Given the description of an element on the screen output the (x, y) to click on. 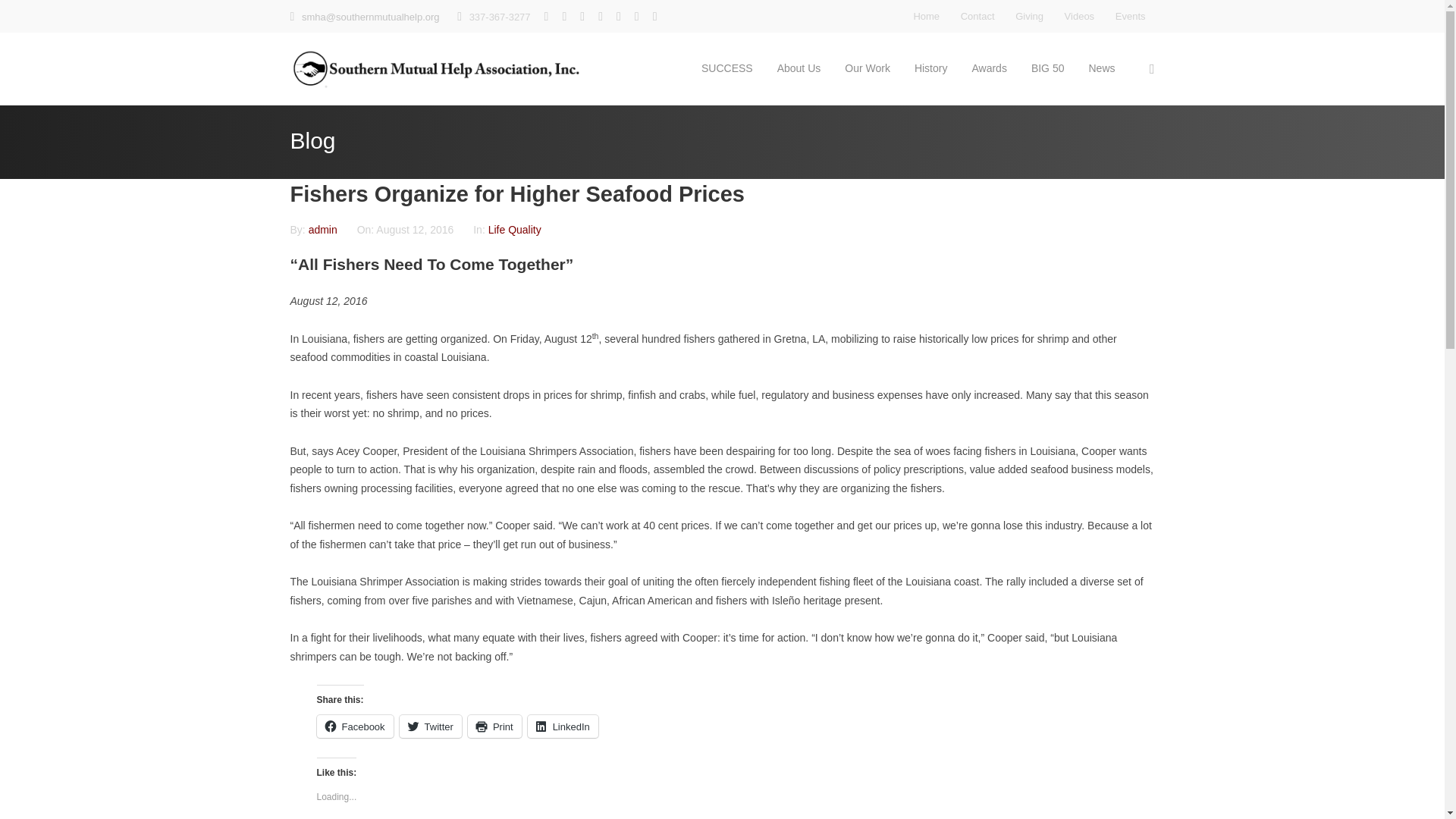
Contact (977, 15)
337-367-3277 (499, 16)
Videos (1079, 15)
Events (1130, 15)
Click to share on Facebook (355, 725)
Click to share on Twitter (429, 725)
Click to print (494, 725)
Click to share on LinkedIn (562, 725)
